Given the description of an element on the screen output the (x, y) to click on. 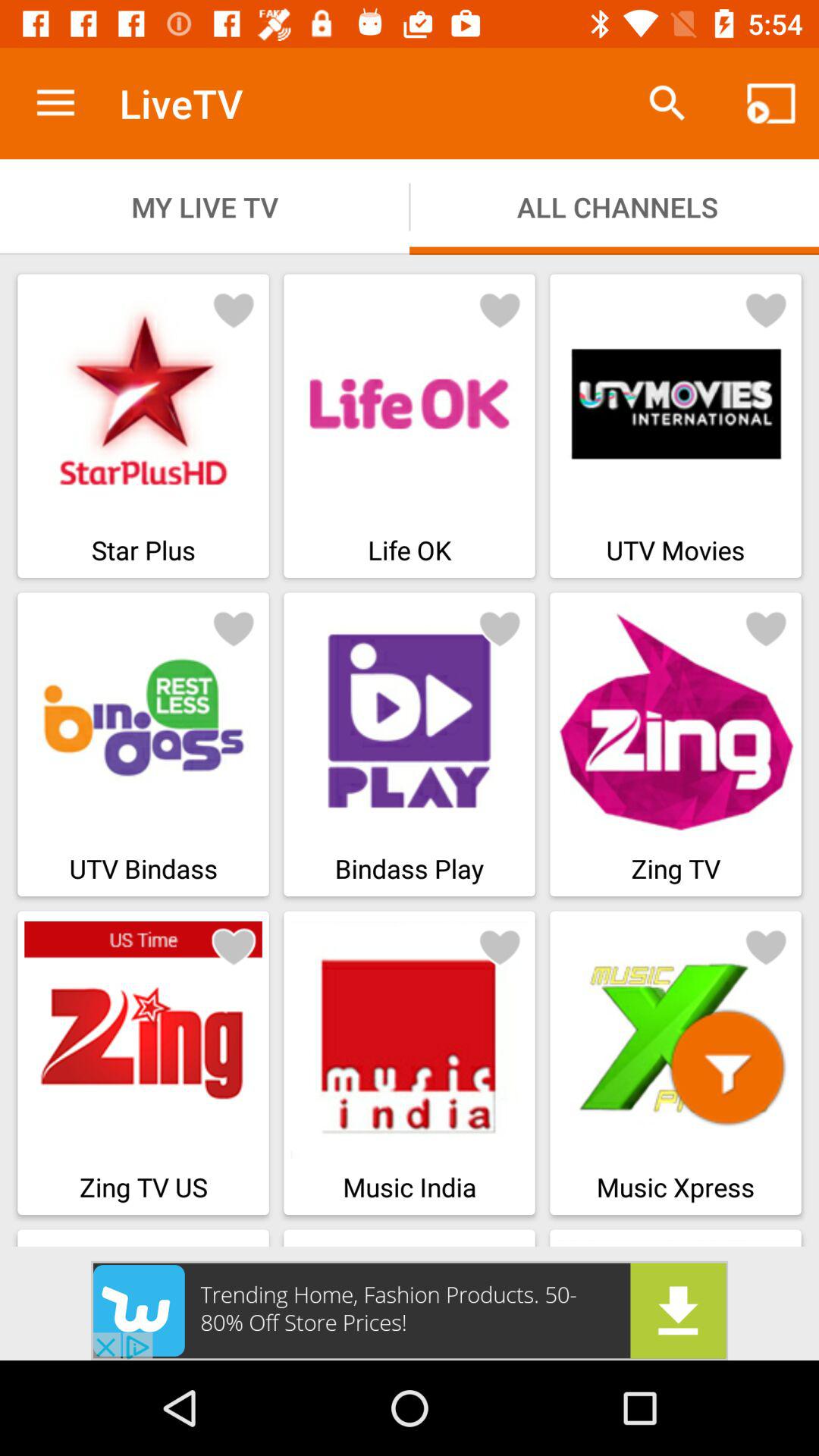
like page (499, 946)
